Given the description of an element on the screen output the (x, y) to click on. 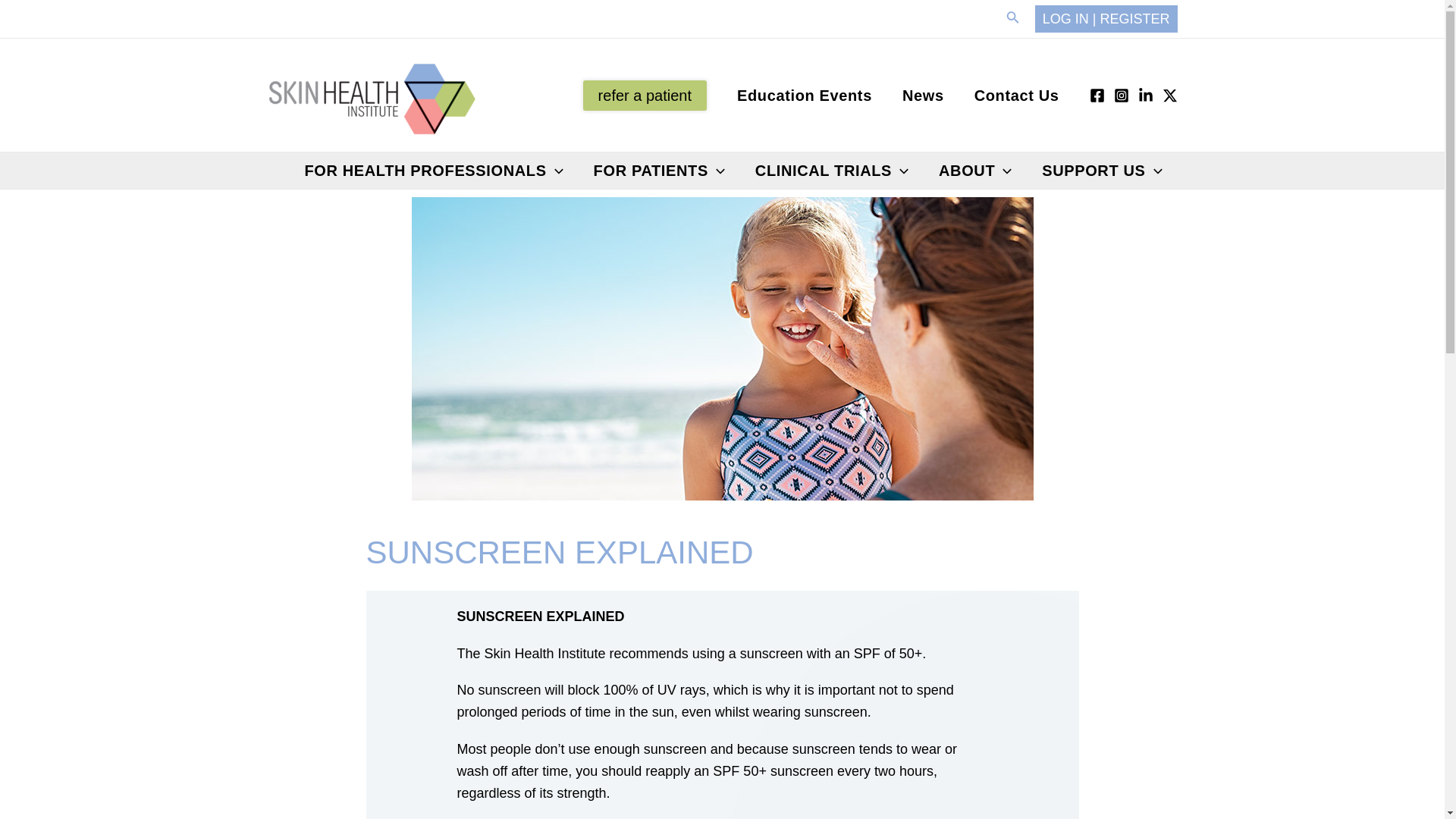
Contact Us (1016, 95)
News (922, 95)
Education Events (804, 95)
FOR PATIENTS (658, 170)
FOR HEALTH PROFESSIONALS (433, 170)
refer a patient (644, 95)
